Given the description of an element on the screen output the (x, y) to click on. 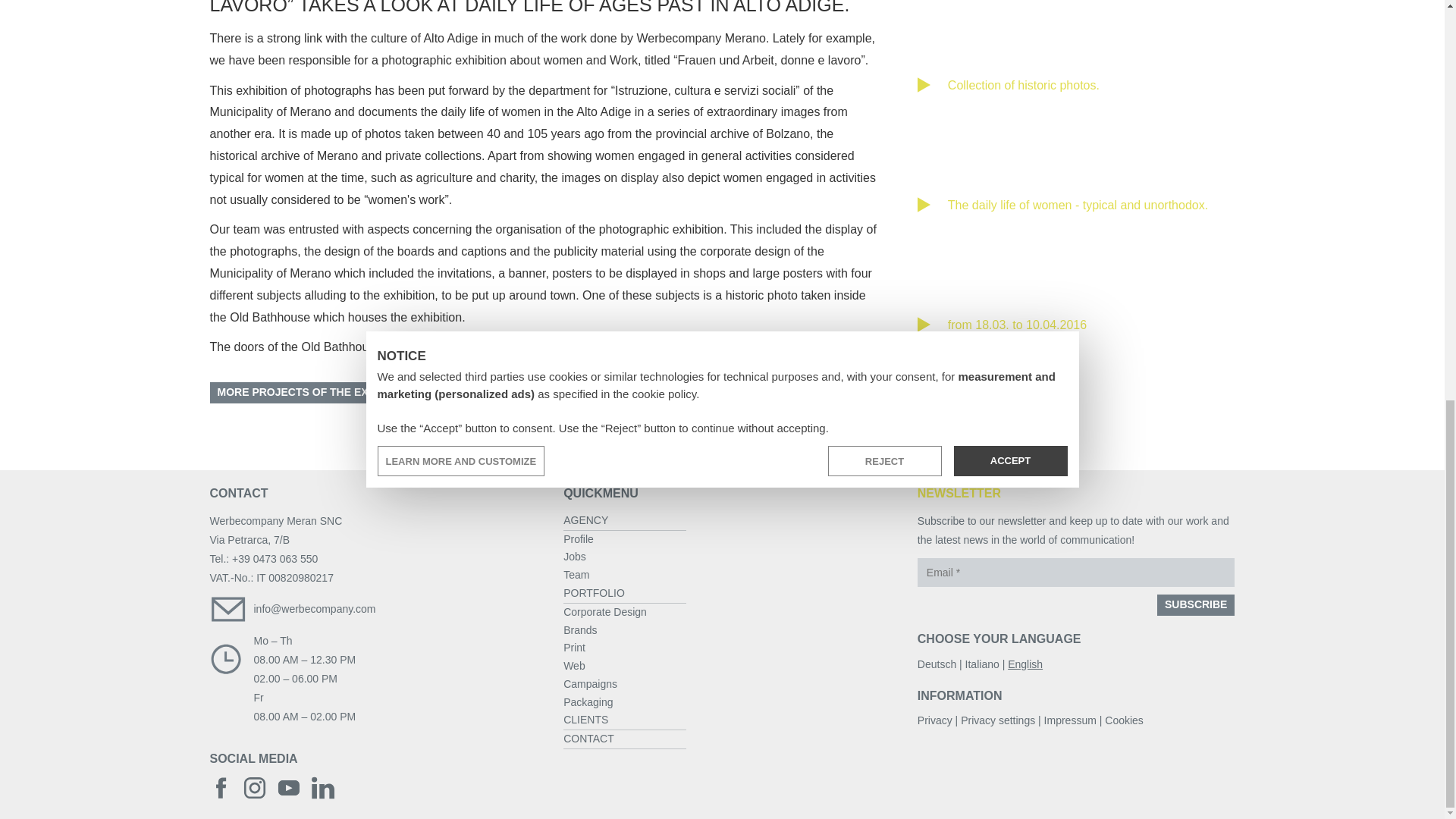
Brands (579, 629)
Jobs (574, 556)
Contact (624, 739)
Campaigns (590, 684)
Web (574, 665)
Agency (624, 520)
AGENCY (624, 520)
Print (574, 647)
Jobs (574, 556)
Portfolio (624, 593)
Profile (578, 539)
Profile (578, 539)
Packaging (587, 702)
Clients (624, 720)
MORE PROJECTS OF THE EXHIBITION (315, 392)
